Given the description of an element on the screen output the (x, y) to click on. 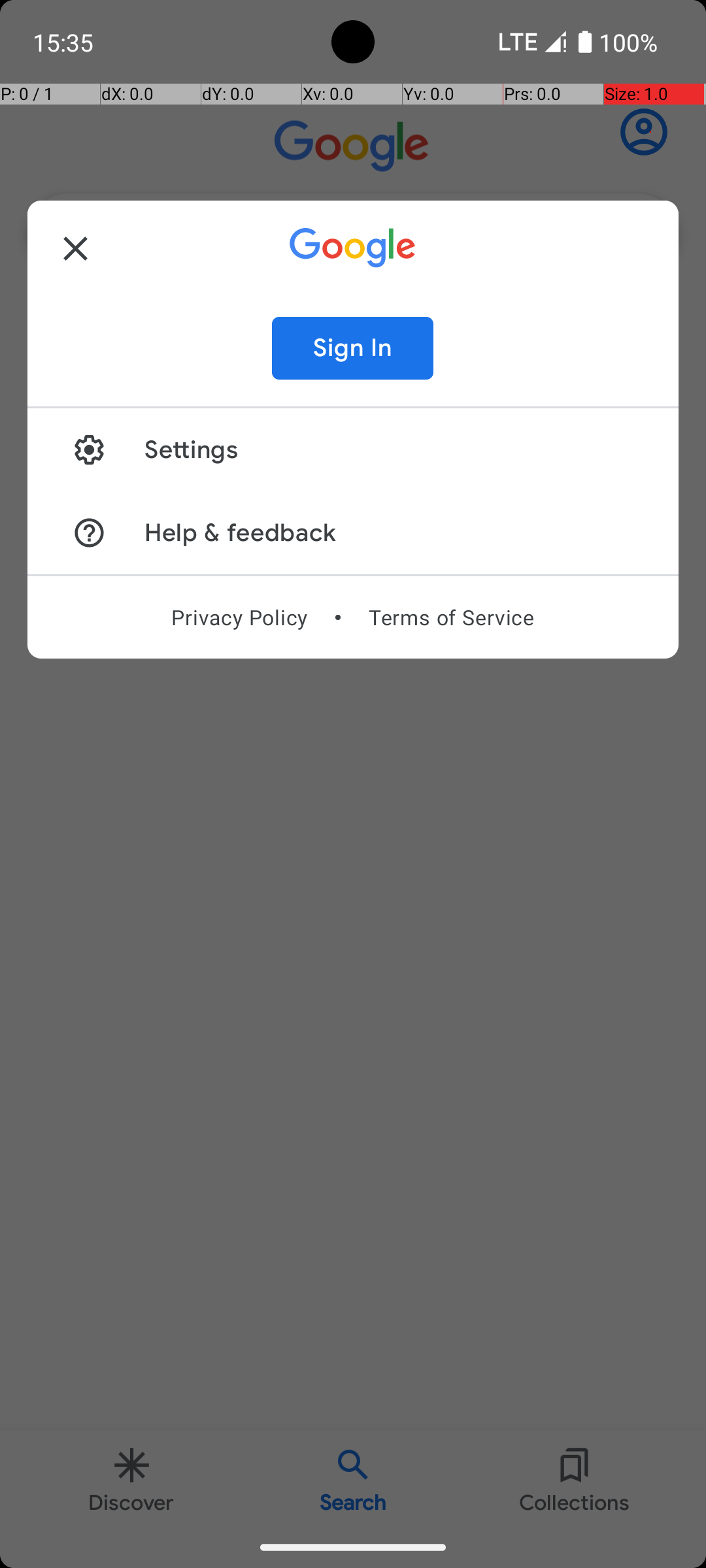
Sign In Element type: android.widget.Button (352, 348)
